Given the description of an element on the screen output the (x, y) to click on. 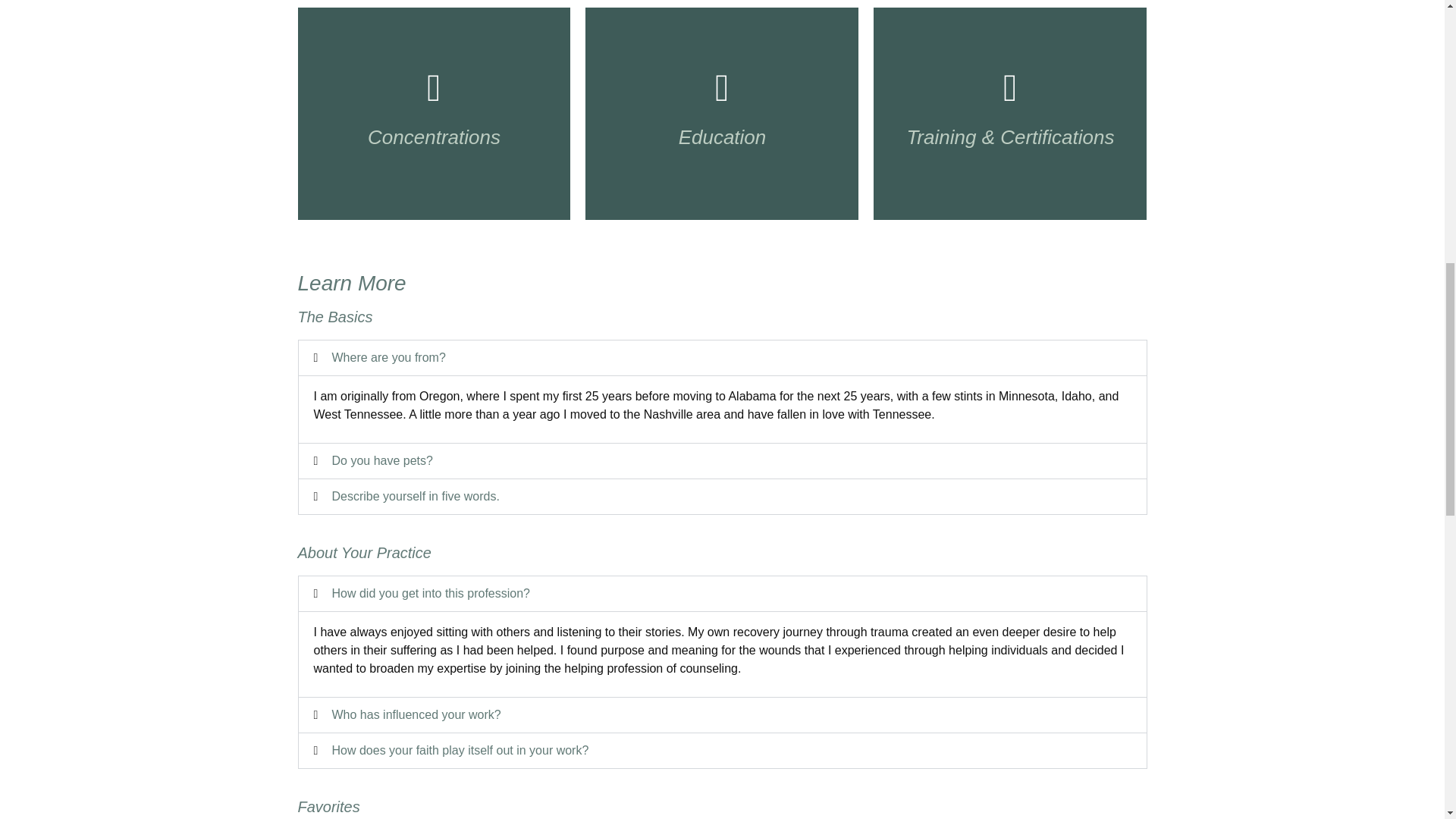
How did you get into this profession? (430, 593)
Where are you from? (388, 357)
How does your faith play itself out in your work? (460, 749)
Do you have pets? (381, 460)
Who has influenced your work? (415, 714)
Describe yourself in five words. (415, 495)
